Given the description of an element on the screen output the (x, y) to click on. 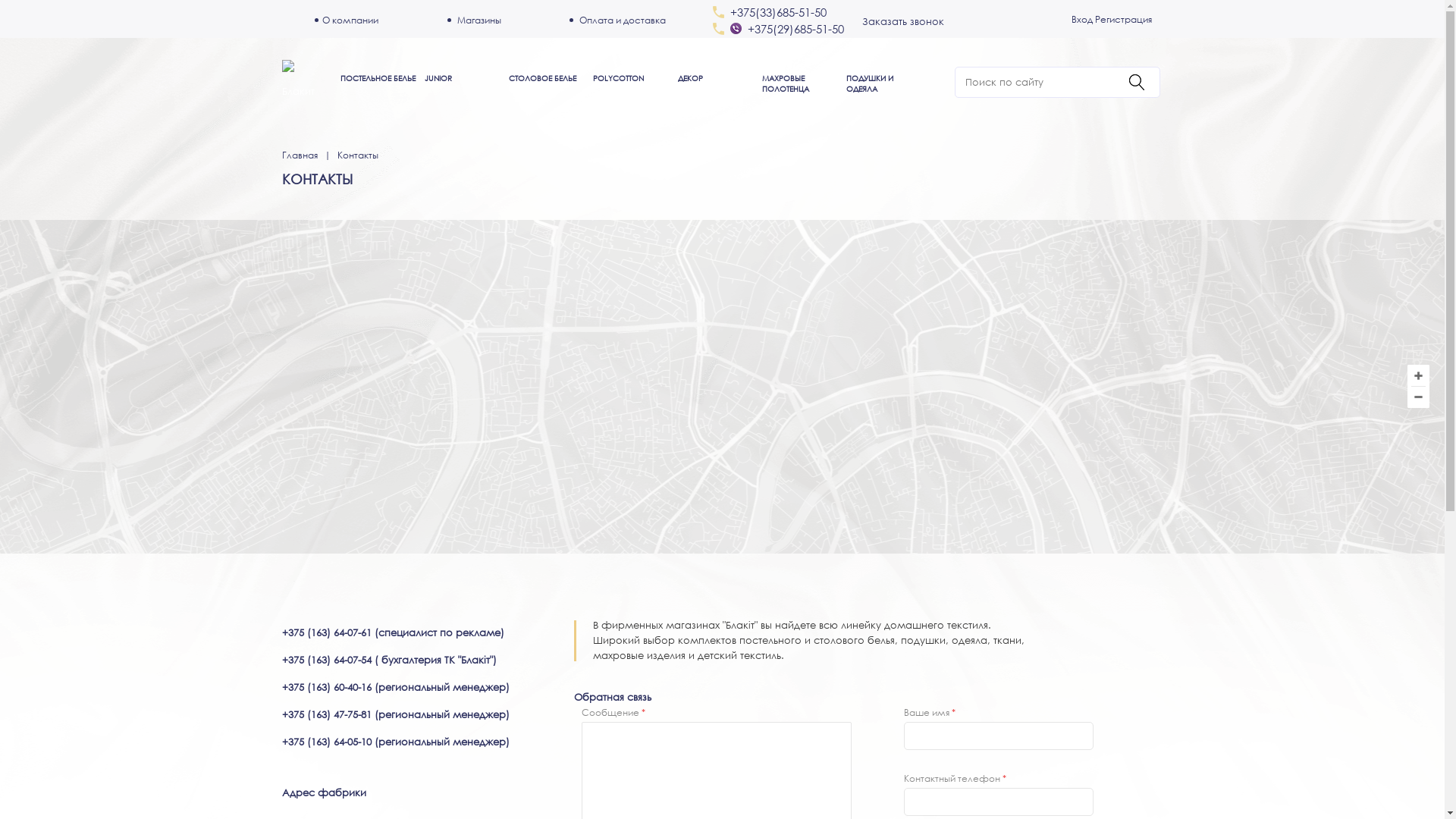
POLYCOTTON Element type: text (618, 78)
+375(29)685-51-50 Element type: text (795, 28)
+375(33)685-51-50 Element type: text (778, 11)
JUNIOR Element type: text (437, 78)
